Given the description of an element on the screen output the (x, y) to click on. 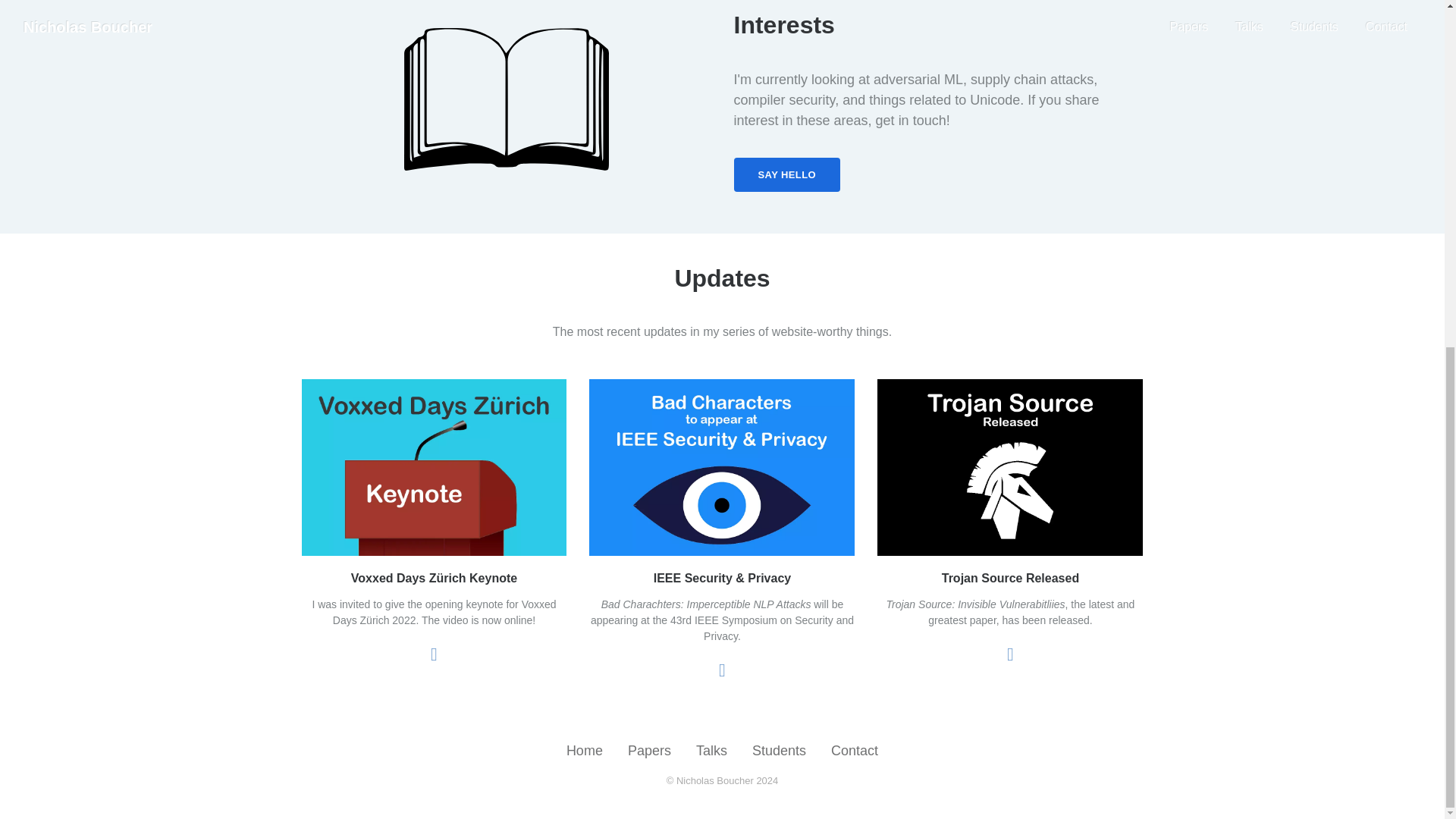
Talks (710, 750)
Home (584, 750)
SAY HELLO (787, 174)
Papers (649, 750)
Students (779, 750)
Contact (854, 750)
